Given the description of an element on the screen output the (x, y) to click on. 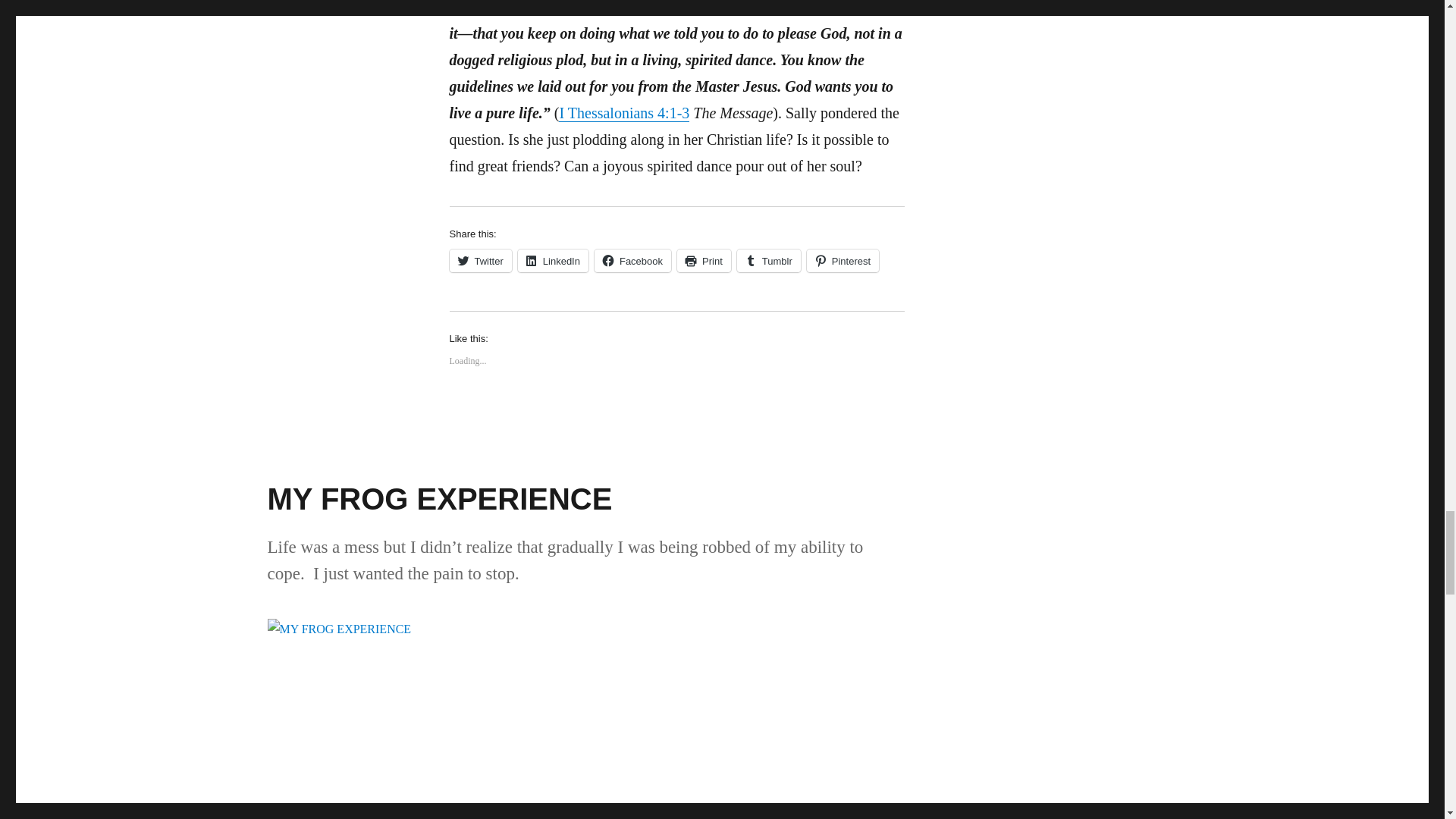
Click to share on Tumblr (768, 260)
I Thessalonians 4:1-3 (623, 112)
Twitter (479, 260)
Click to share on Twitter (479, 260)
Click to share on Facebook (632, 260)
Click to print (703, 260)
Click to share on Pinterest (842, 260)
Click to share on LinkedIn (553, 260)
